Given the description of an element on the screen output the (x, y) to click on. 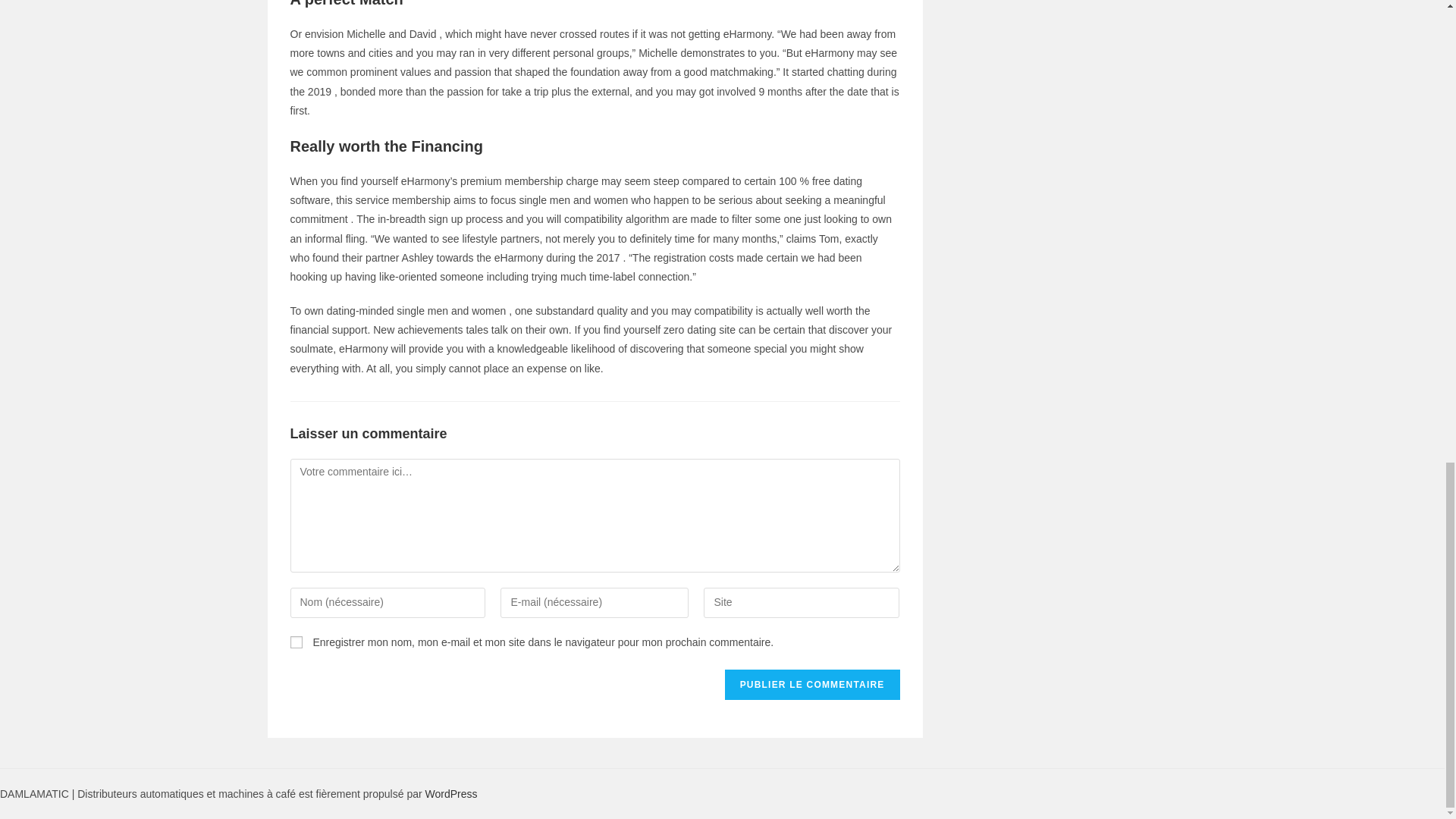
Publier le commentaire (812, 684)
Publier le commentaire (812, 684)
WordPress (451, 793)
yes (295, 642)
